Given the description of an element on the screen output the (x, y) to click on. 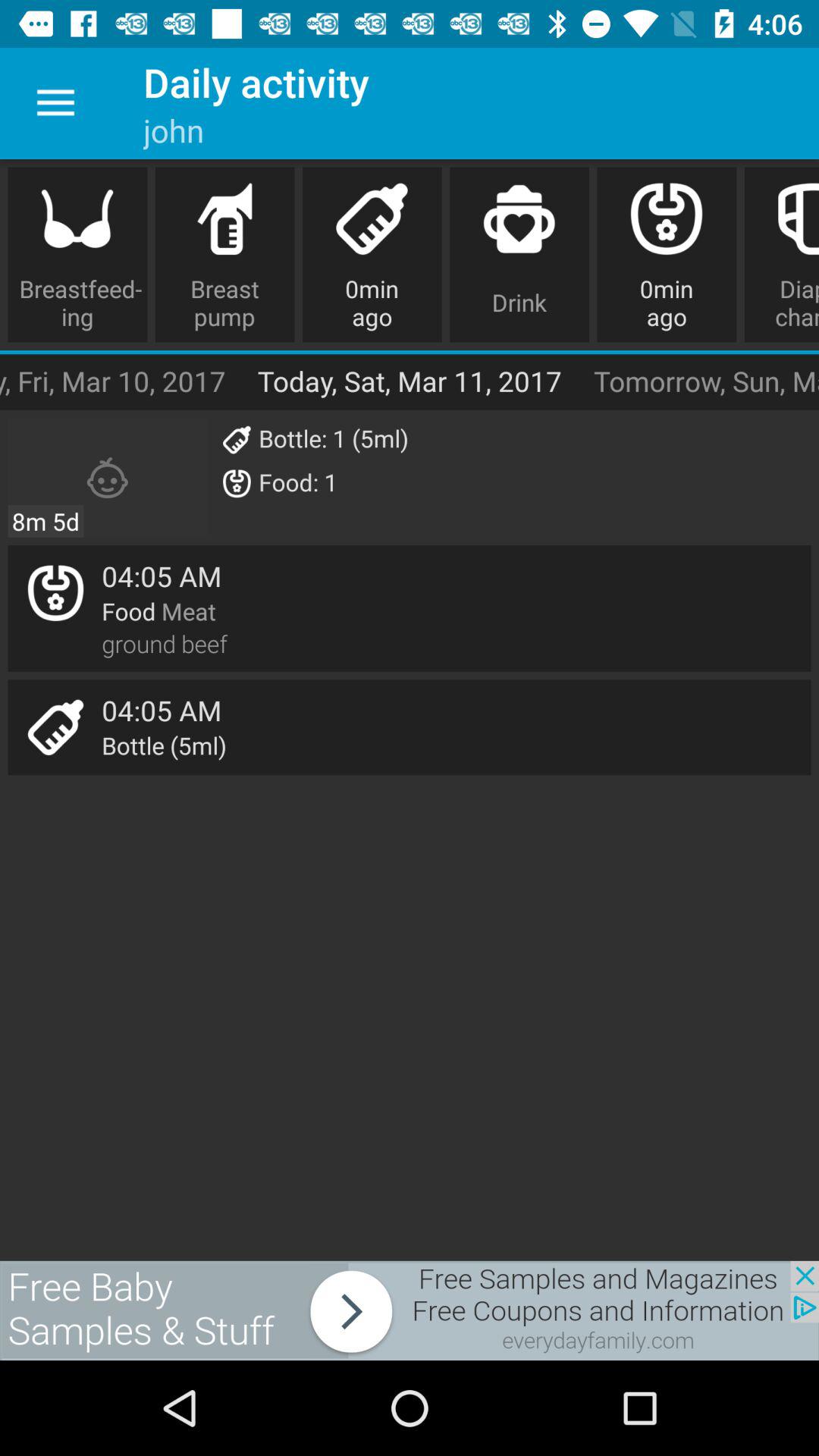
relevant advertisement (409, 1310)
